Given the description of an element on the screen output the (x, y) to click on. 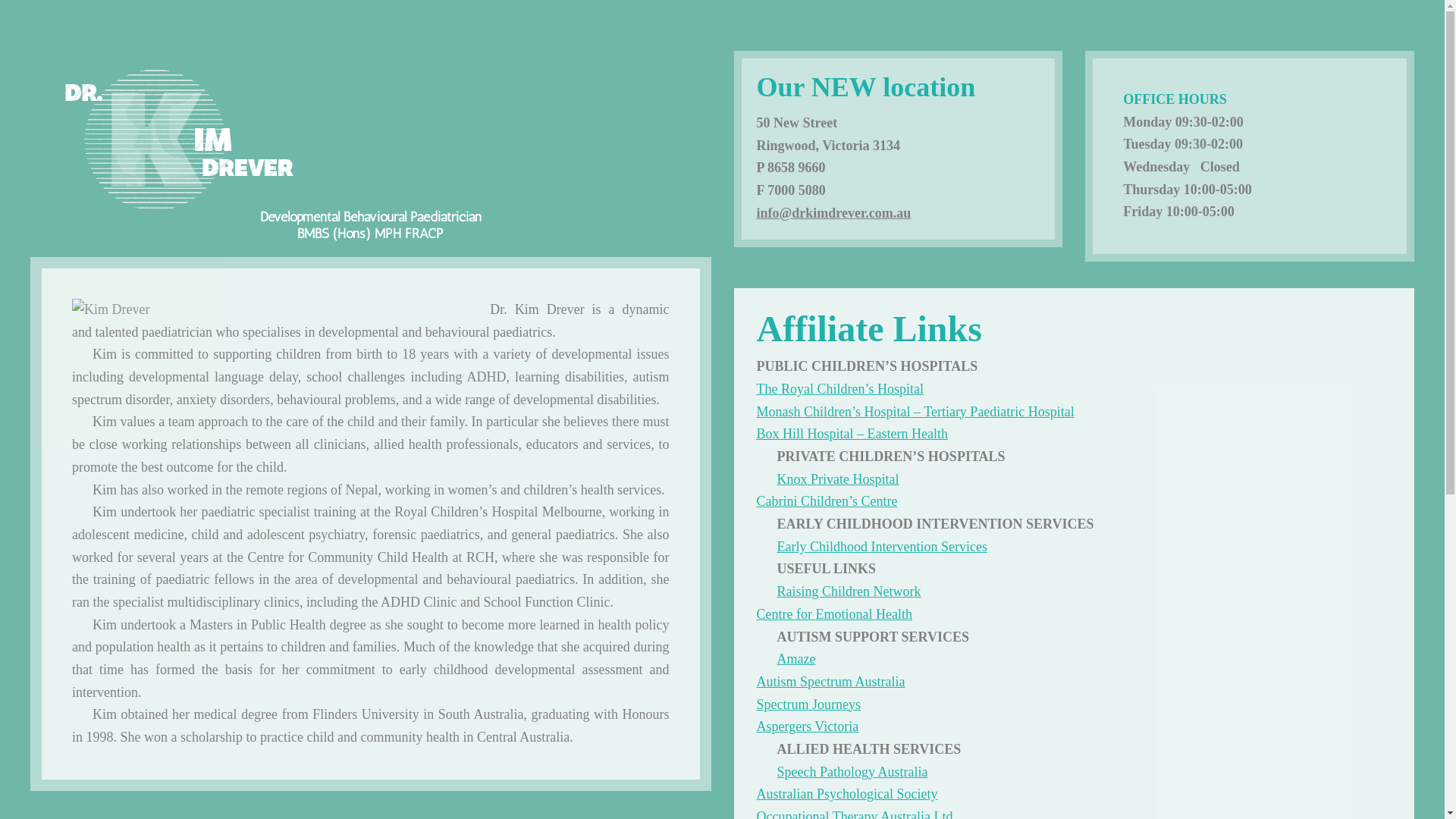
Knox Private Hospital Element type: text (837, 478)
Spectrum Journeys Element type: text (808, 704)
info@drkimdrever.com.au Element type: text (833, 212)
Centre for Emotional Health Element type: text (834, 613)
Raising Children Network Element type: text (848, 591)
Autism Spectrum Australia Element type: text (830, 681)
Australian Psychological Society Element type: text (847, 793)
Amaze Element type: text (795, 658)
Aspergers Victoria Element type: text (807, 726)
Early Childhood Intervention Services Element type: text (881, 546)
Speech Pathology Australia Element type: text (851, 771)
